Given the description of an element on the screen output the (x, y) to click on. 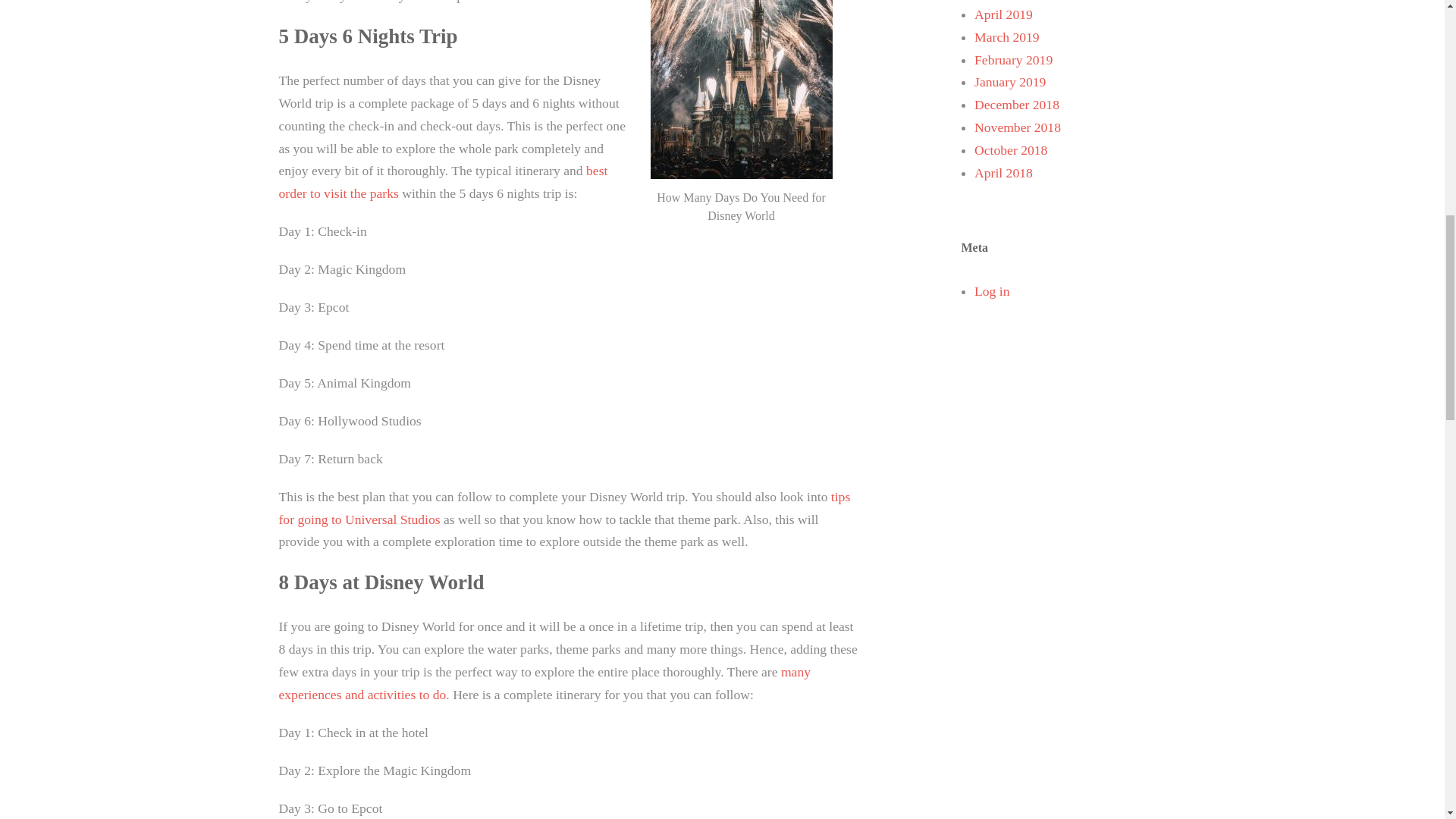
many experiences and activities to do (544, 682)
How Many Days Do You Need for Disney World (741, 89)
tips for going to Universal Studios (564, 507)
best order to visit the parks (443, 181)
